Given the description of an element on the screen output the (x, y) to click on. 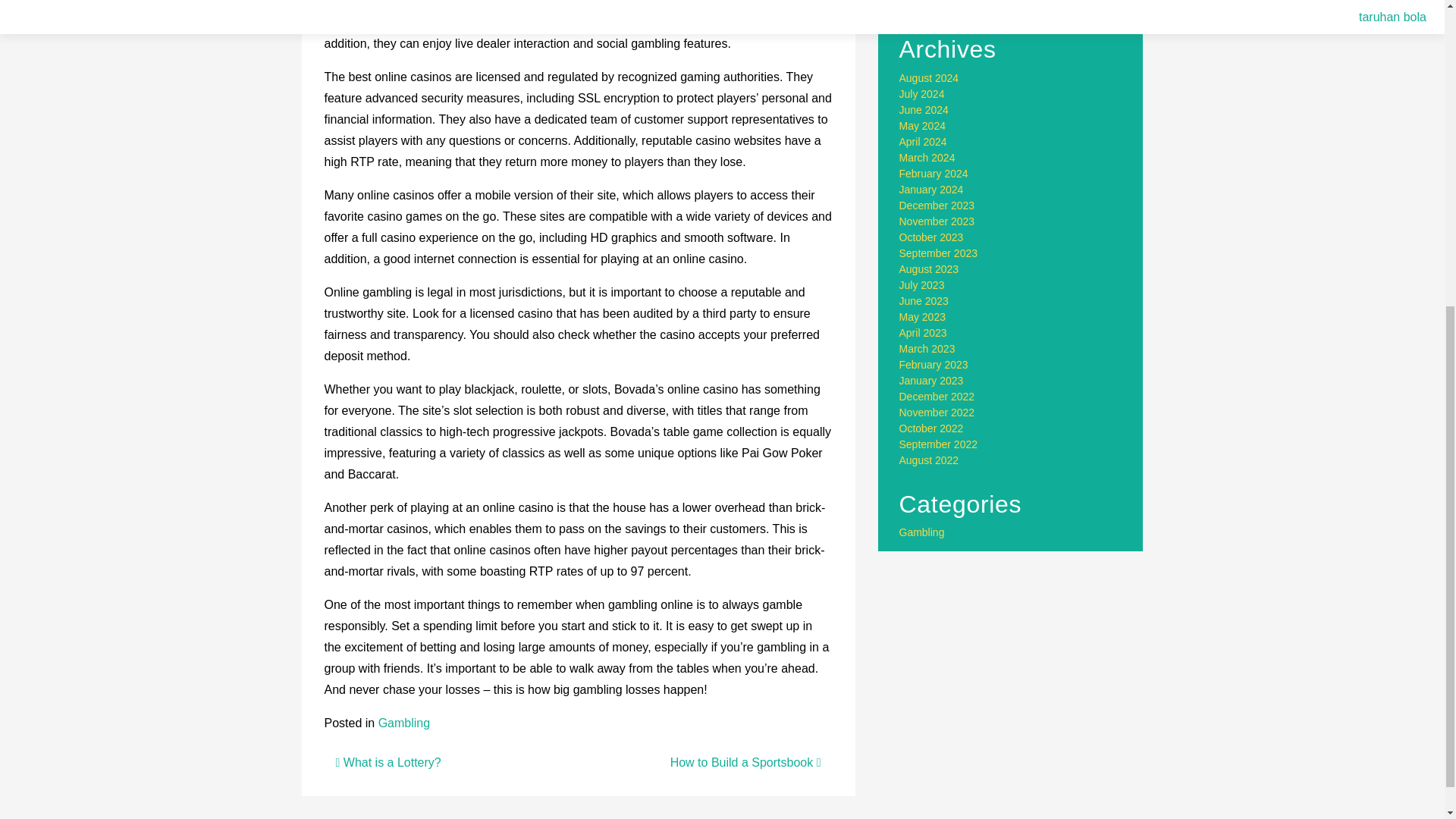
August 2022 (929, 460)
October 2023 (931, 236)
September 2022 (938, 444)
June 2023 (924, 300)
February 2024 (933, 173)
March 2023 (927, 348)
July 2023 (921, 285)
December 2023 (937, 205)
September 2023 (938, 253)
November 2023 (937, 221)
